Given the description of an element on the screen output the (x, y) to click on. 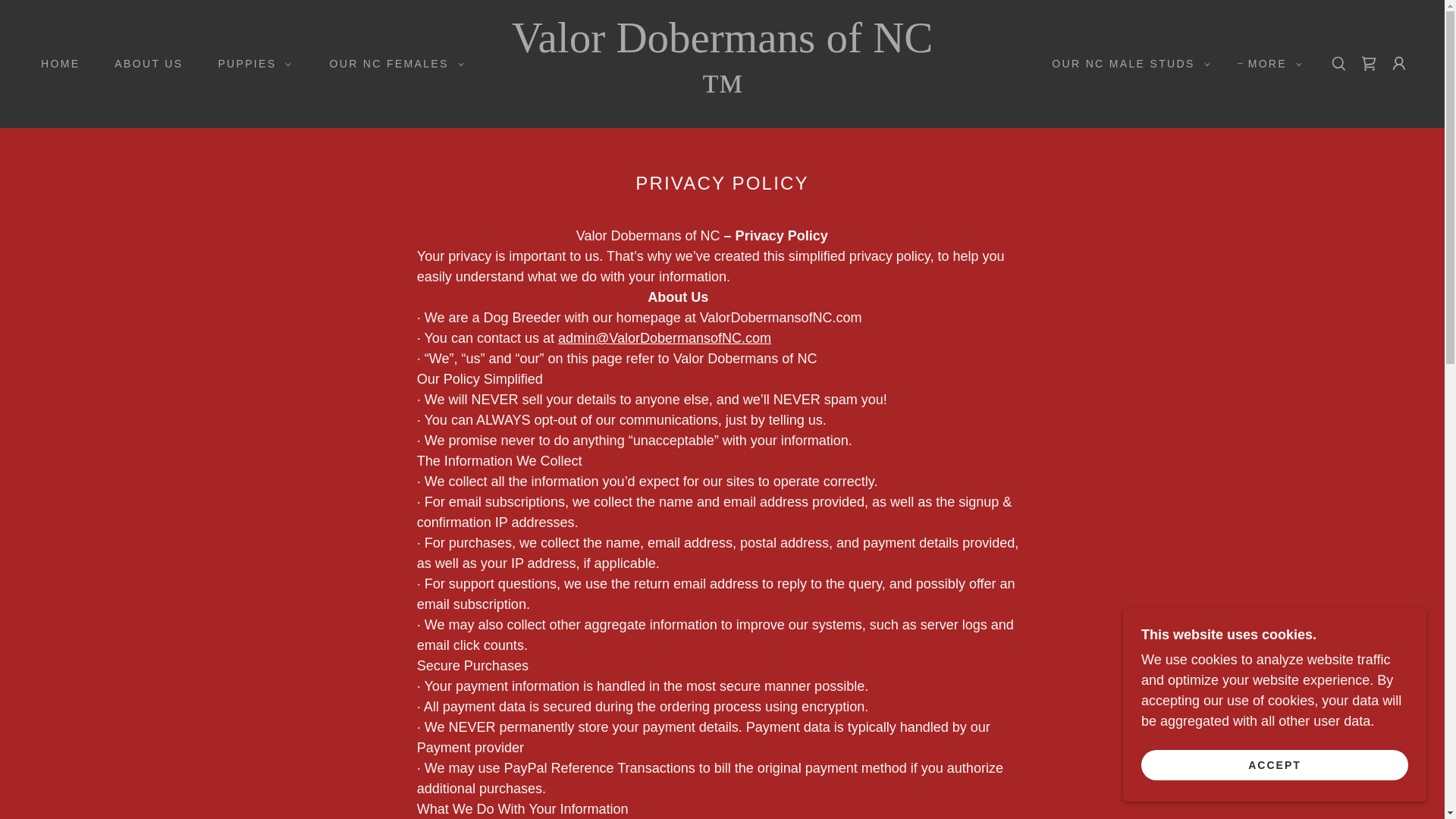
OUR NC MALE STUDS (1126, 63)
PUPPIES (250, 63)
HOME (55, 62)
ABOUT US (143, 62)
OUR NC FEMALES (391, 63)
